Given the description of an element on the screen output the (x, y) to click on. 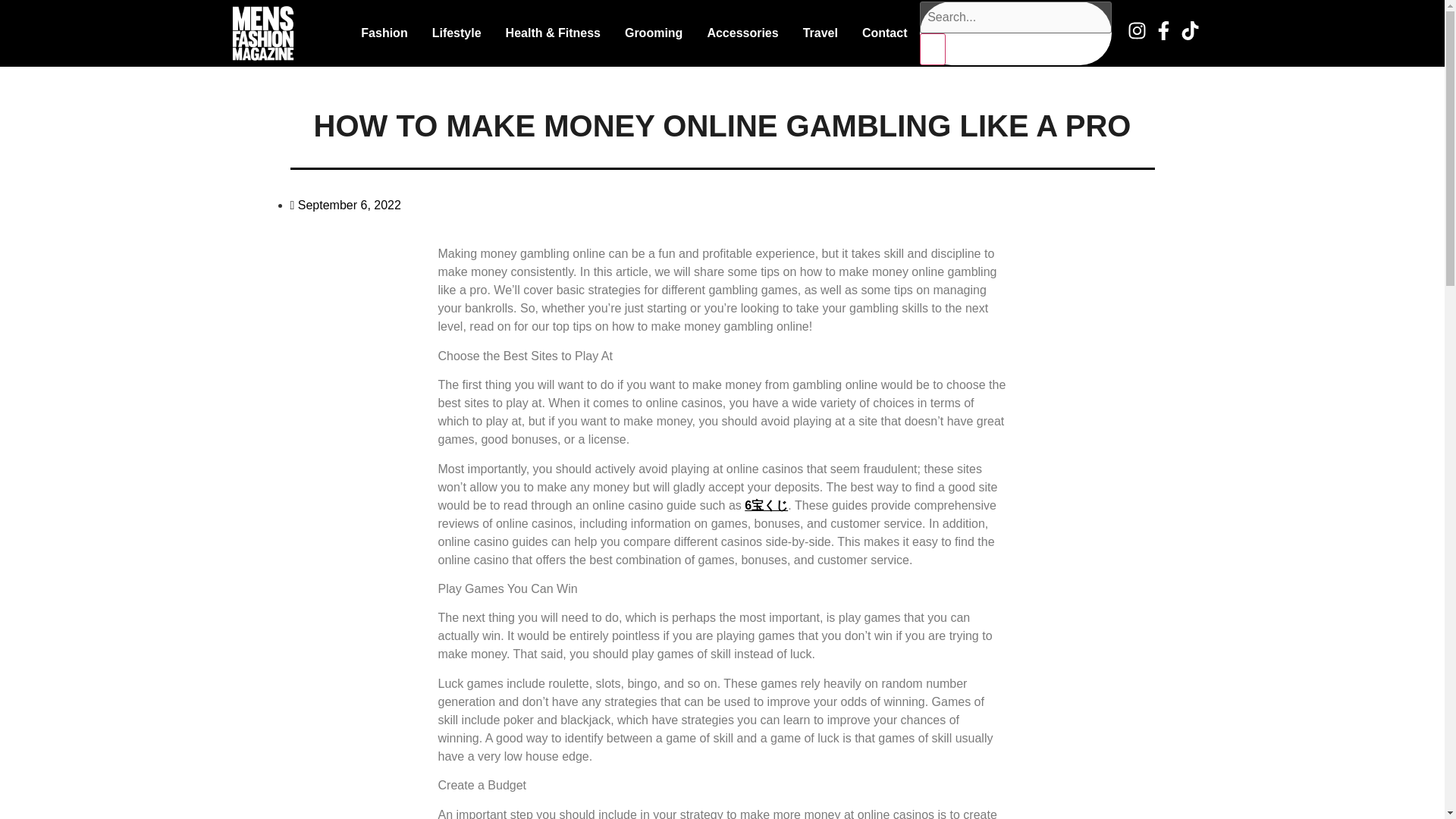
Grooming (653, 33)
Contact (885, 33)
Travel (820, 33)
Fashion (384, 33)
Lifestyle (456, 33)
September 6, 2022 (344, 205)
Accessories (742, 33)
